Given the description of an element on the screen output the (x, y) to click on. 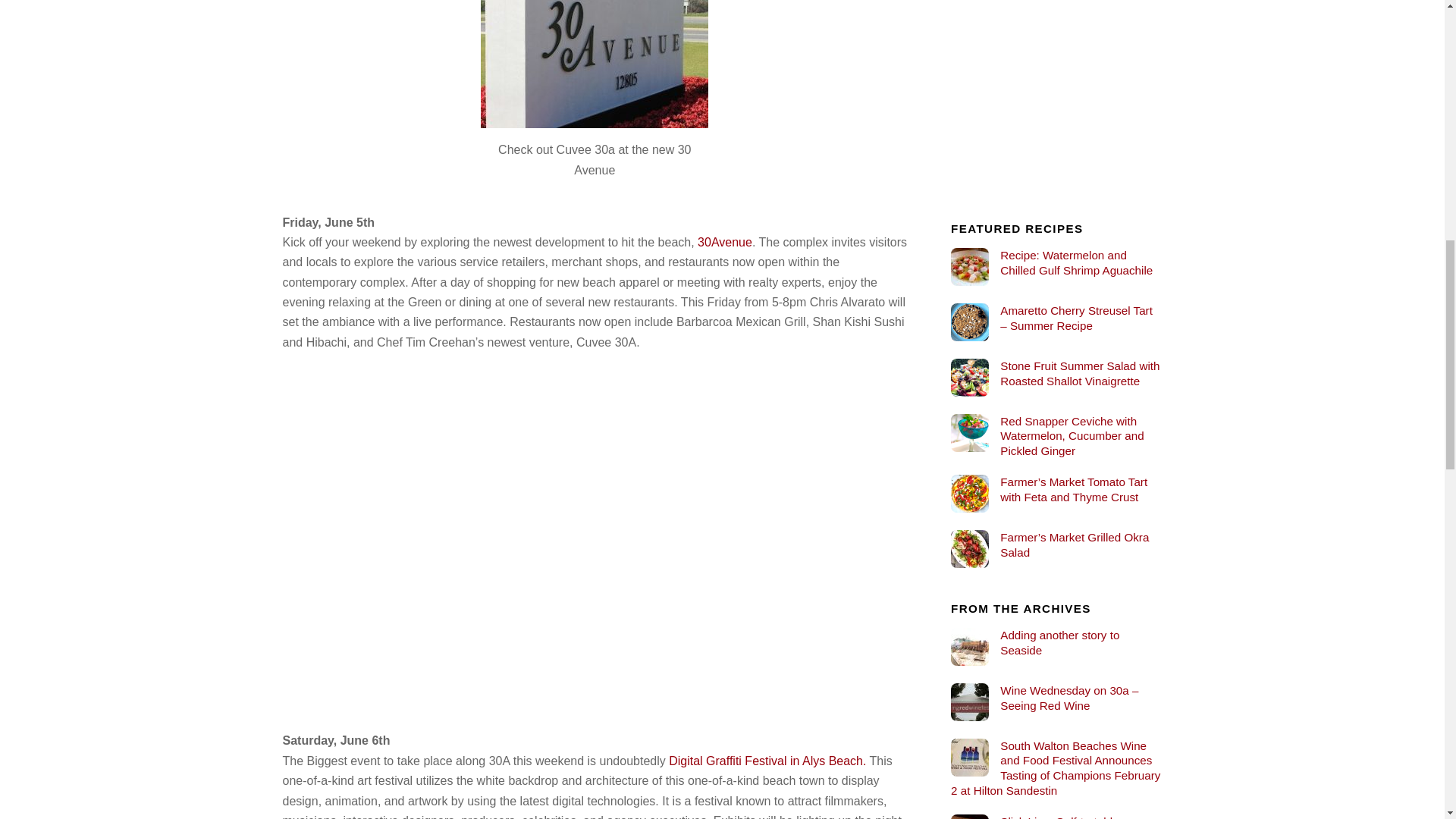
Stone Fruit Summer Salad (969, 377)
30Avenue (724, 241)
Cherry Tart (969, 322)
Snapper Ceviche copy (969, 433)
Digital Graffiti Festival in Alys Beach. (767, 760)
